Given the description of an element on the screen output the (x, y) to click on. 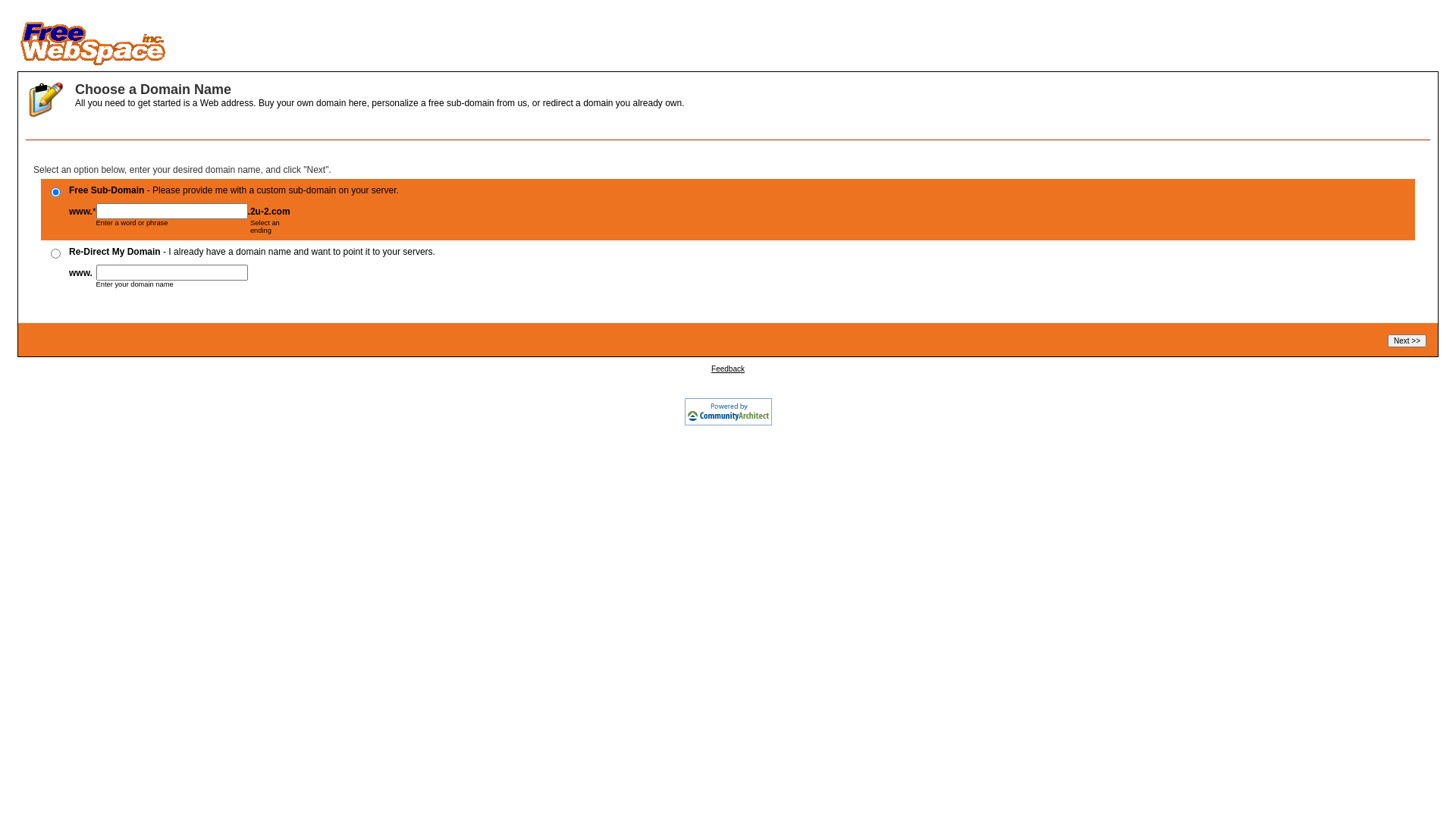
Next >> Element type: text (1406, 340)
subdomain Element type: text (55, 192)
transfer Element type: text (55, 253)
Feedback Element type: text (727, 368)
